Given the description of an element on the screen output the (x, y) to click on. 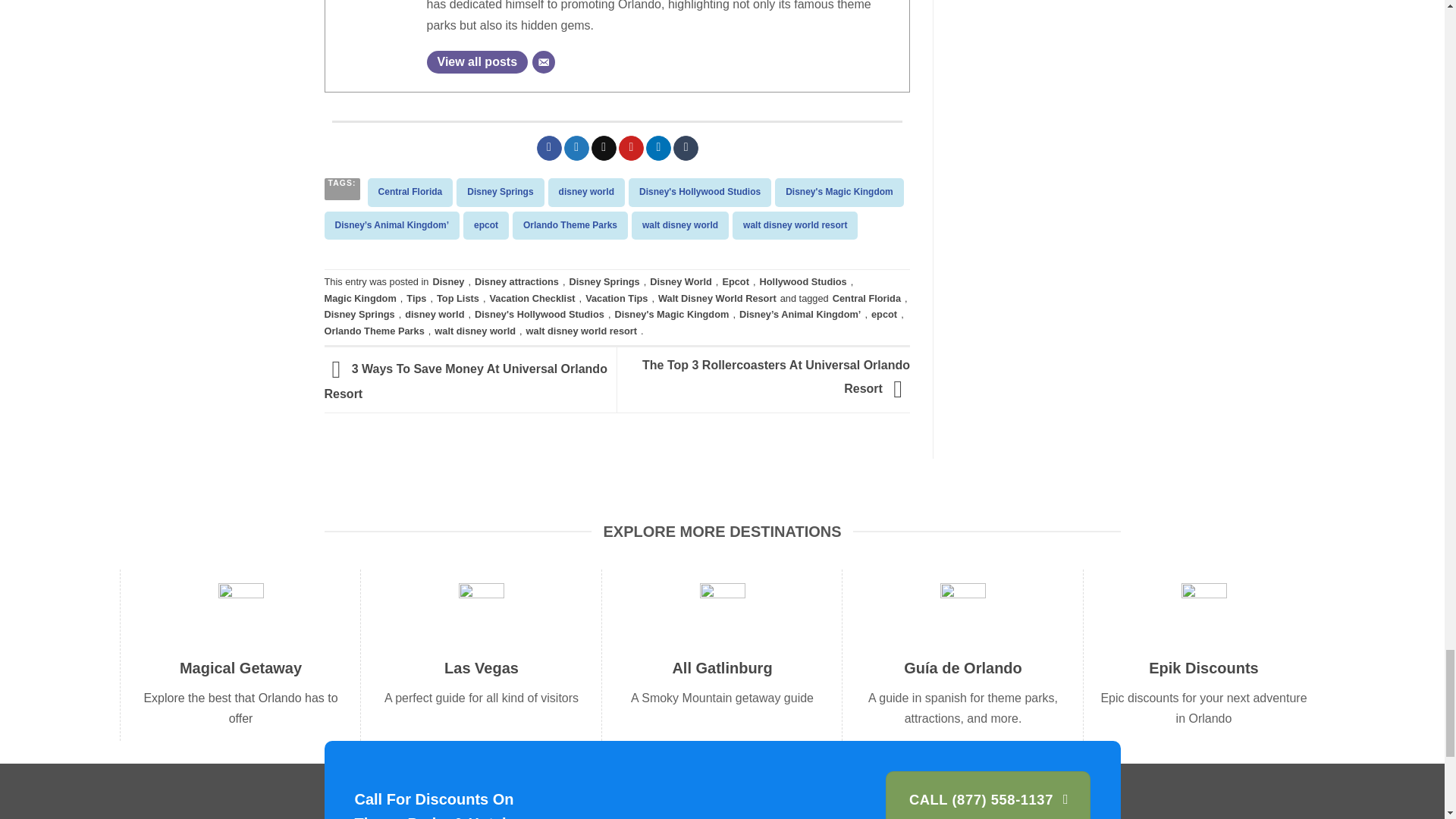
Email to a Friend (603, 148)
View all posts (476, 61)
Share on Twitter (576, 148)
Pin on Pinterest (630, 148)
Share on LinkedIn (658, 148)
Share on Facebook (549, 148)
